Given the description of an element on the screen output the (x, y) to click on. 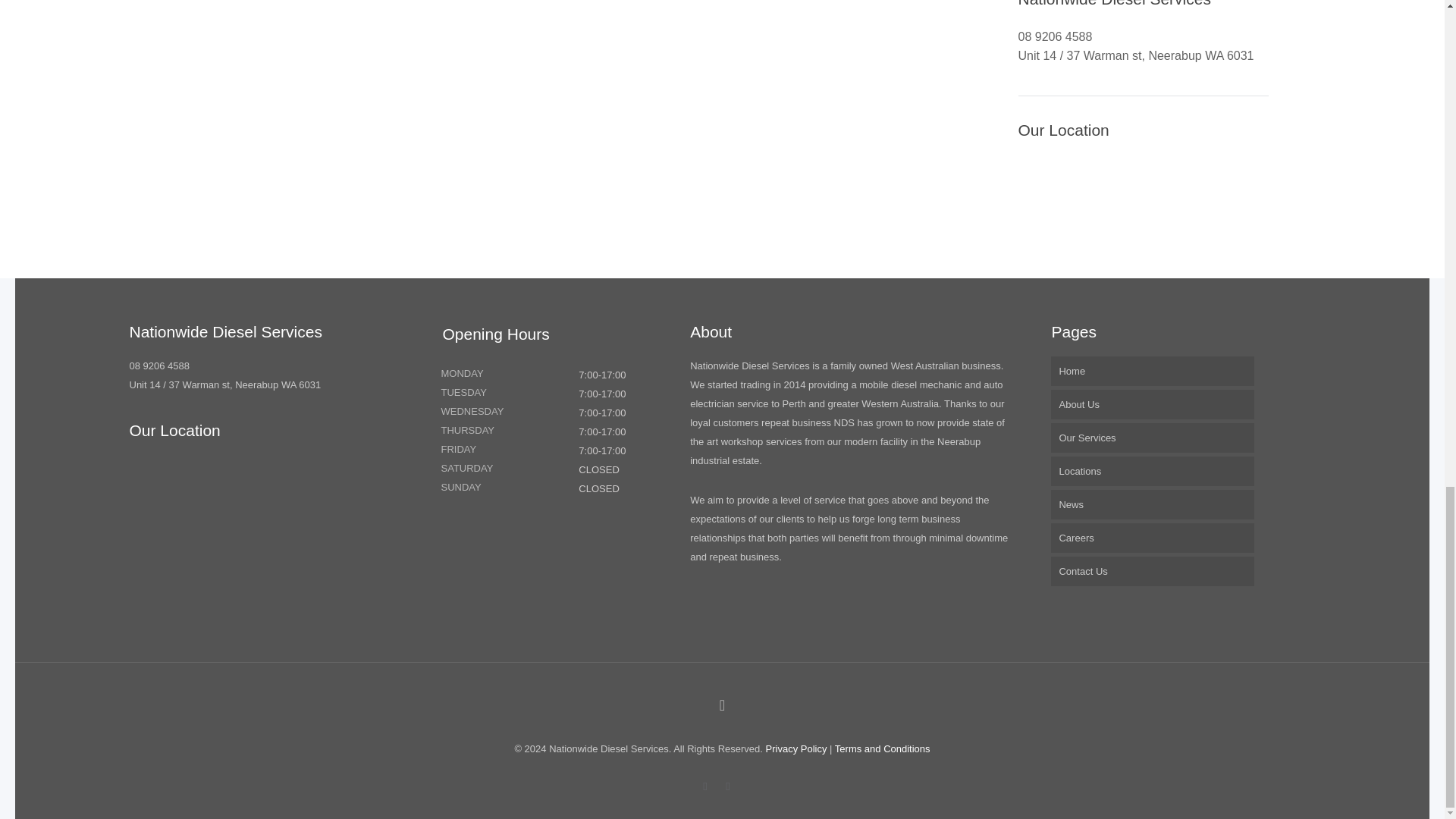
Home (1152, 370)
Our Services (1152, 437)
08 9206 4588 (159, 365)
Contact Us (1152, 571)
About Us (1152, 404)
Careers (1152, 537)
Locations (1152, 471)
News (1152, 504)
